Given the description of an element on the screen output the (x, y) to click on. 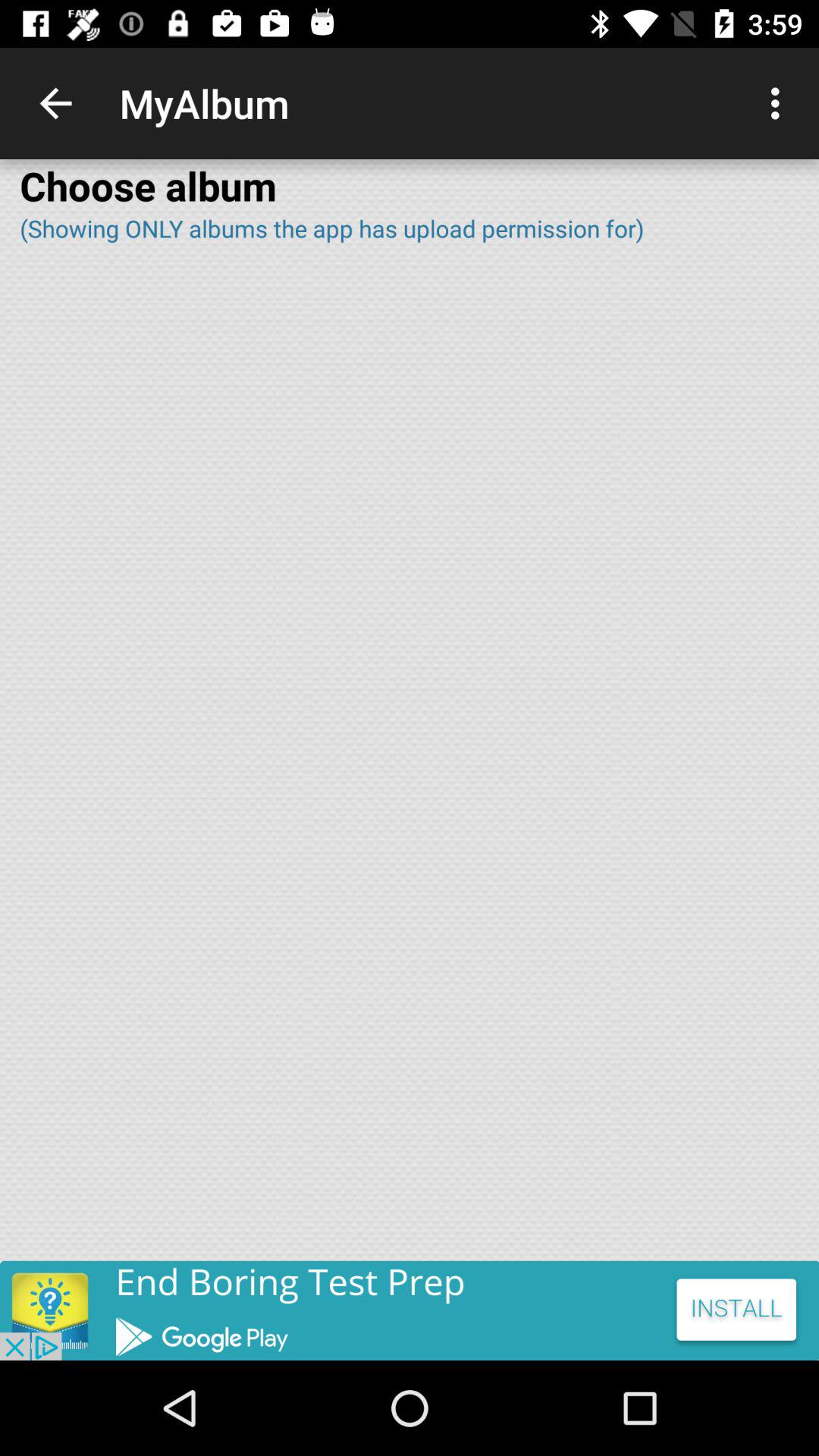
clickable advertisement (409, 1310)
